Given the description of an element on the screen output the (x, y) to click on. 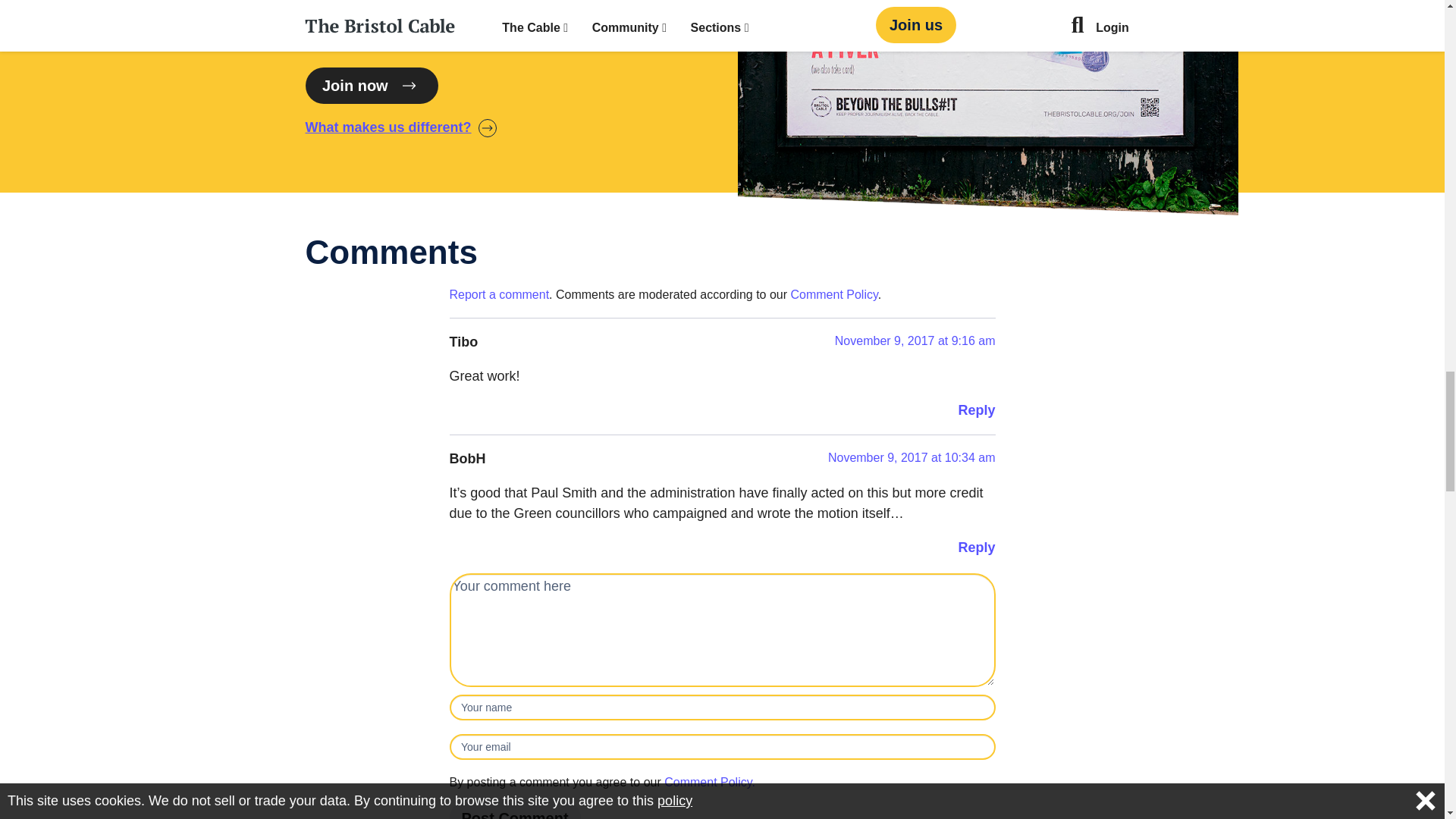
Join the Cable! (371, 85)
Opens in a new tab (709, 781)
Post Comment (513, 809)
About The Cable (400, 127)
